Given the description of an element on the screen output the (x, y) to click on. 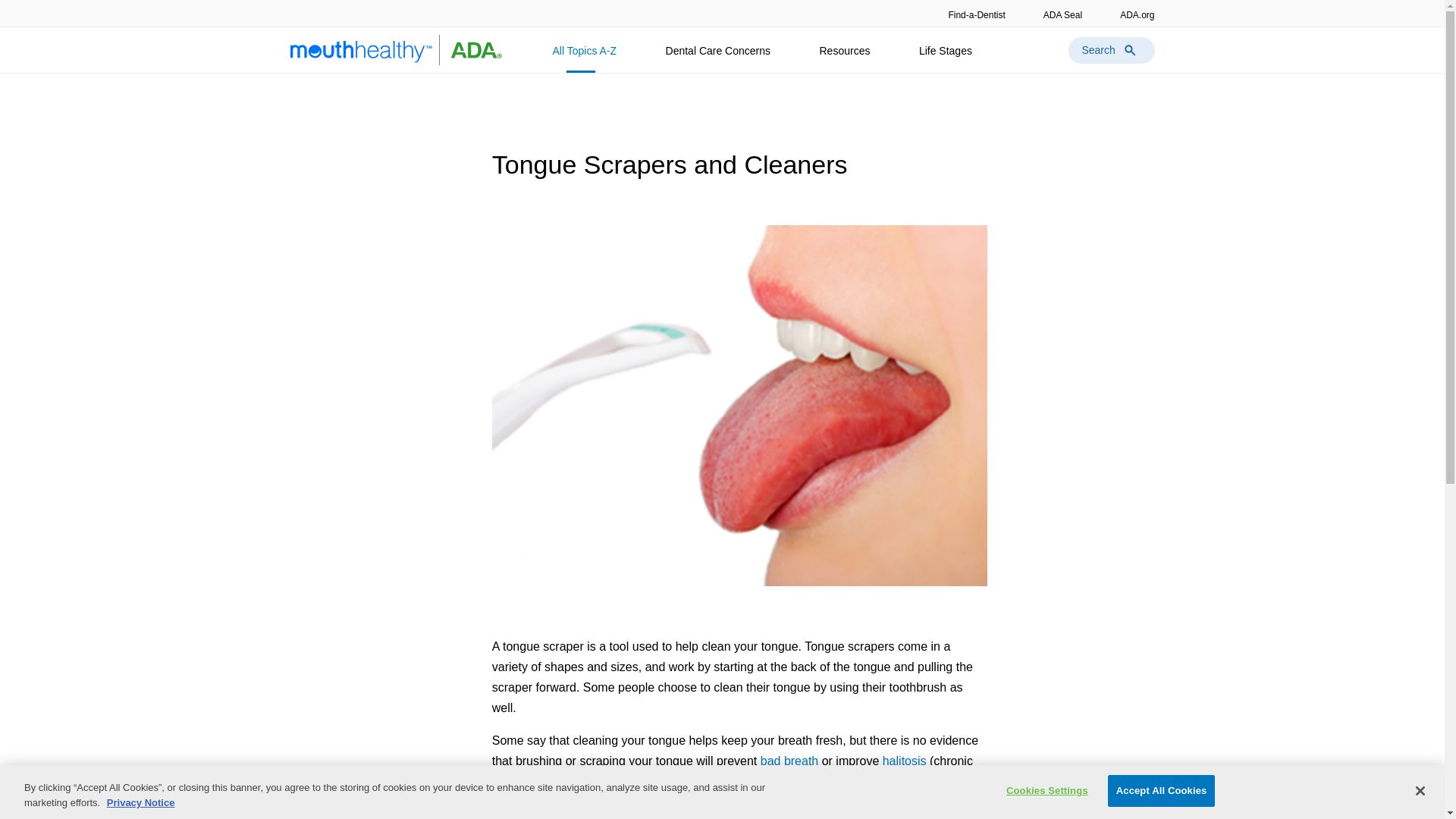
Find-a-Dentist (975, 13)
Privacy Notice (140, 802)
Dental Care Concerns (718, 56)
halitosis (904, 761)
Search (1110, 49)
Accept All Cookies (1161, 790)
Life Stages (946, 56)
bad breath (789, 761)
Cookies Settings (1046, 790)
ADA Seal (1062, 13)
